Given the description of an element on the screen output the (x, y) to click on. 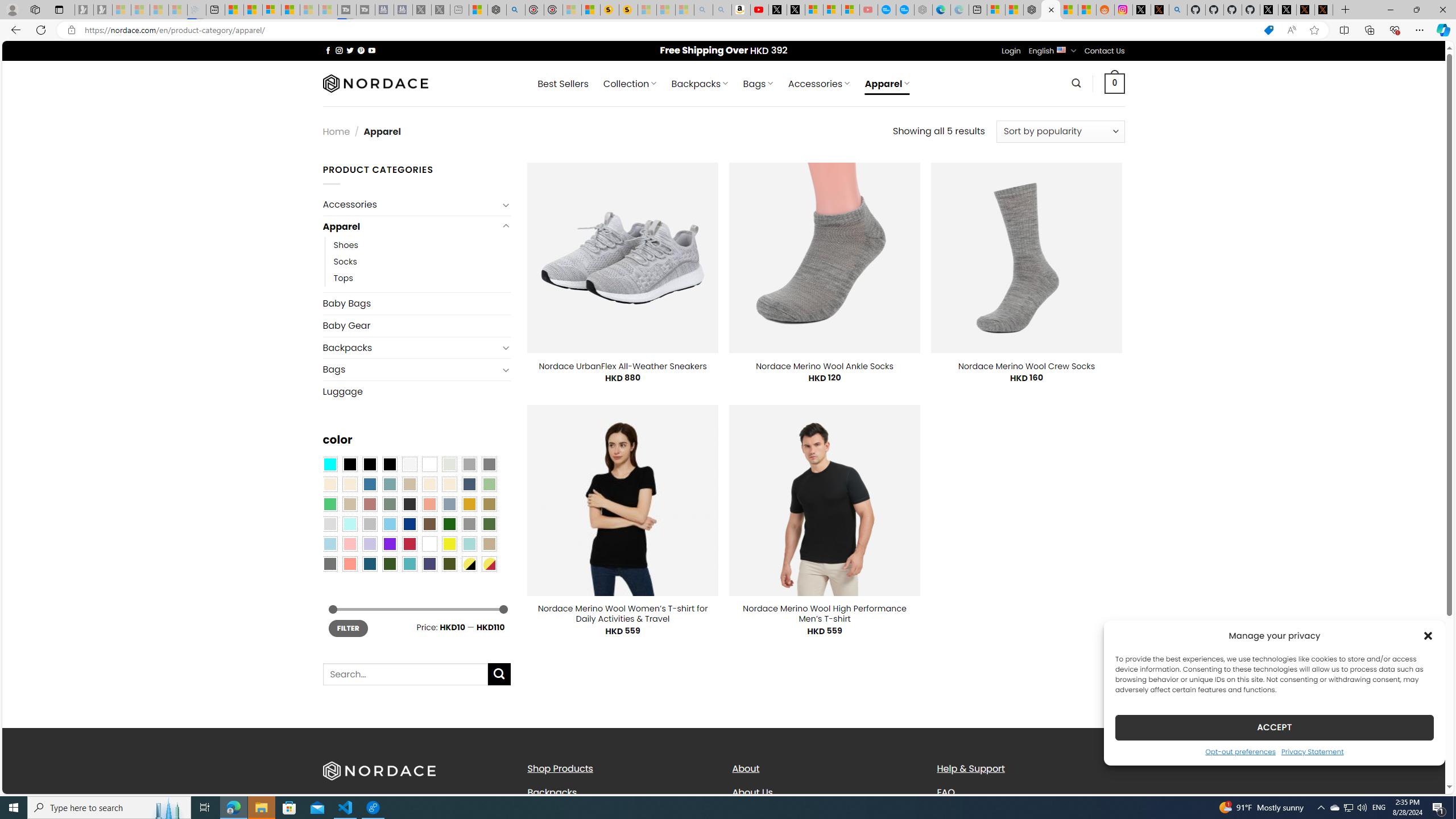
FAQ (945, 792)
Purple Navy (429, 563)
Nordace - Nordace has arrived Hong Kong - Sleeping (923, 9)
Yellow (449, 543)
Amazon Echo Dot PNG - Search Images - Sleeping (721, 9)
Black-Brown (389, 464)
